Given the description of an element on the screen output the (x, y) to click on. 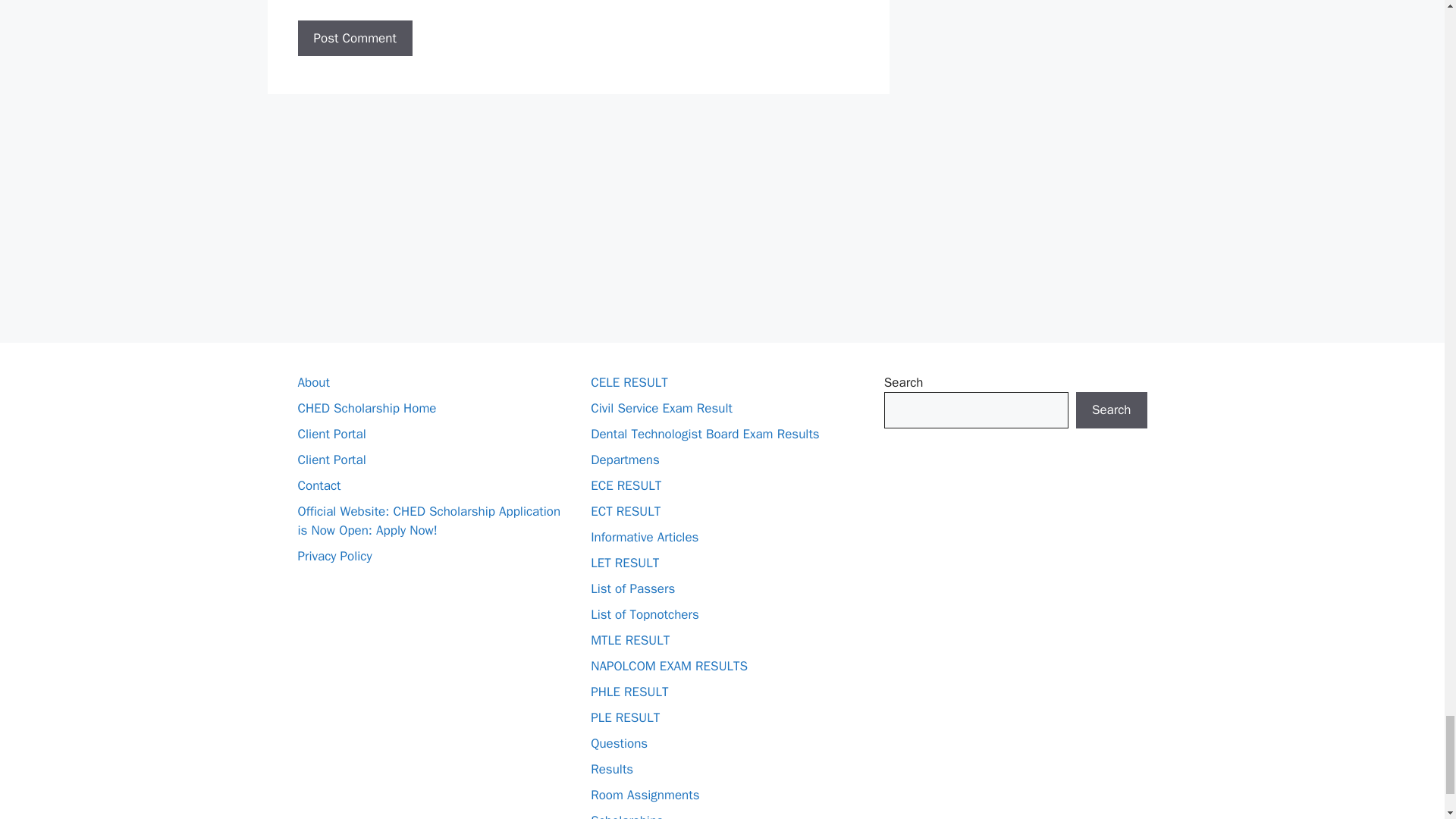
Post Comment (354, 38)
ECE RESULT (626, 485)
Client Portal (331, 433)
Informative Articles (644, 537)
ECT RESULT (626, 511)
CELE RESULT (629, 382)
Civil Service Exam Result (661, 408)
CHED Scholarship Home (366, 408)
Contact (318, 485)
Departmens (625, 459)
